Given the description of an element on the screen output the (x, y) to click on. 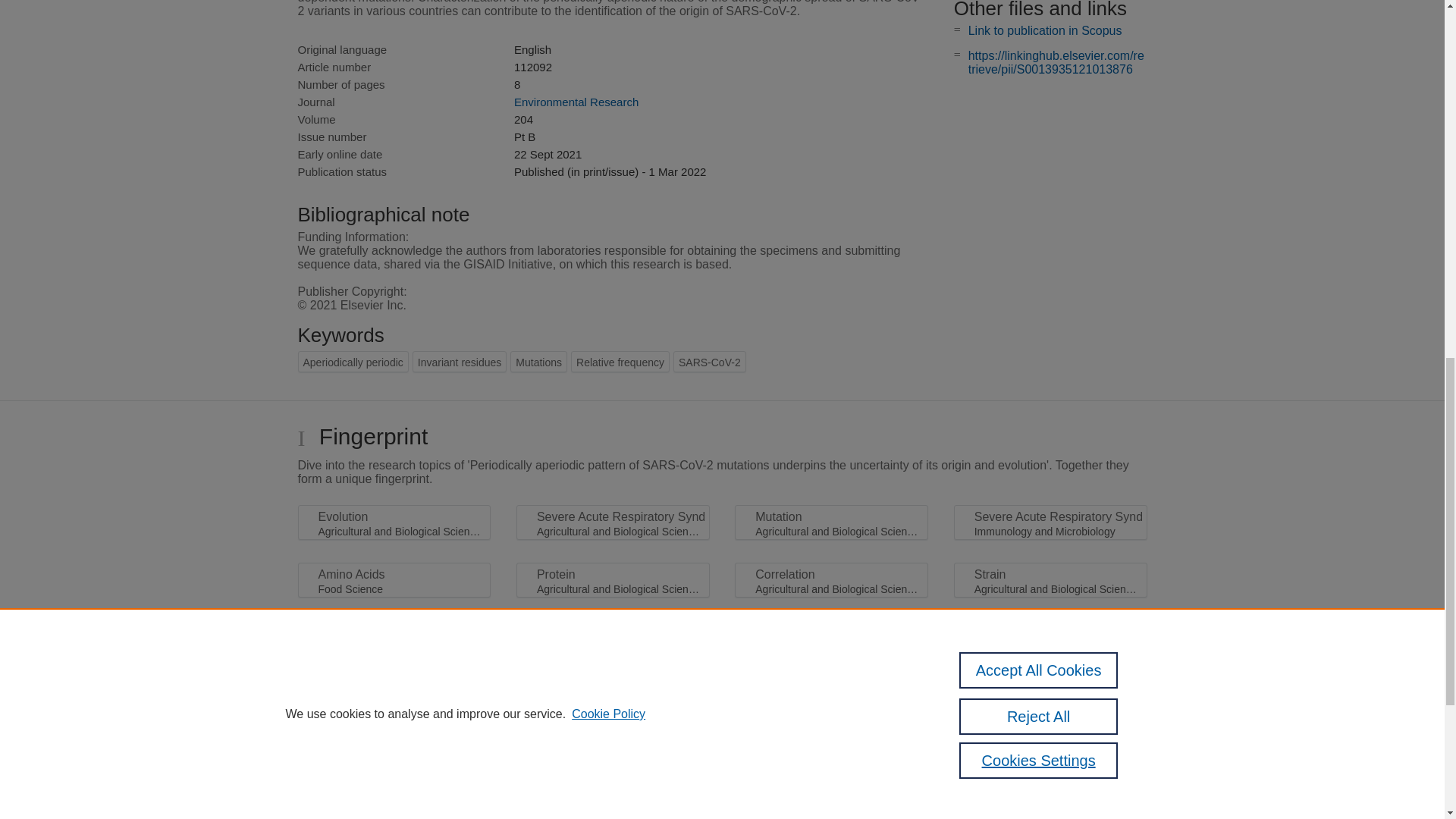
Environmental Research (576, 101)
View full fingerprint (722, 627)
Link to publication in Scopus (1045, 30)
